Given the description of an element on the screen output the (x, y) to click on. 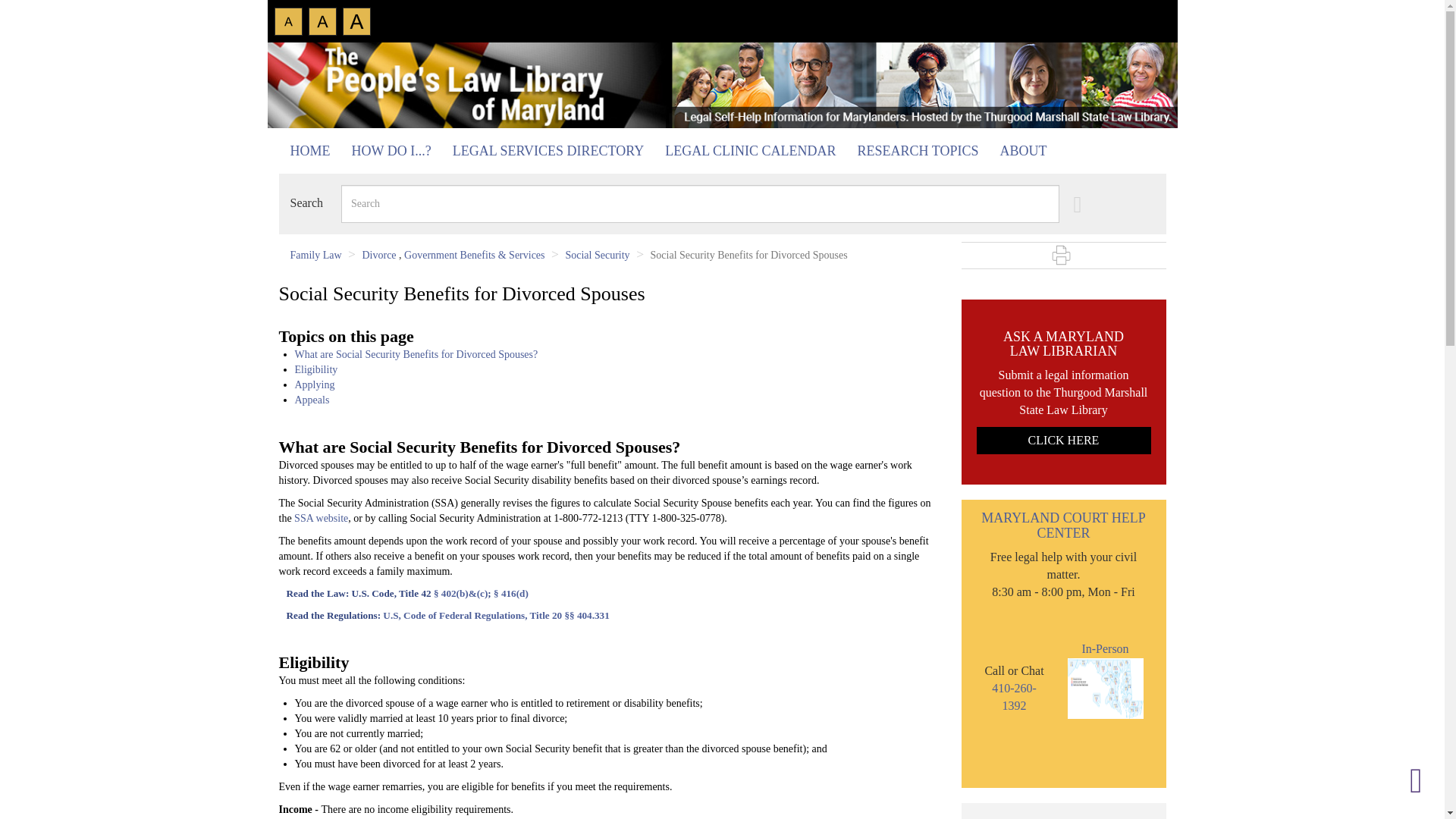
Family Law (314, 254)
HOME (310, 150)
HOW DO I...? (390, 150)
LEGAL CLINIC CALENDAR (750, 150)
LEGAL SERVICES DIRECTORY (547, 150)
